Given the description of an element on the screen output the (x, y) to click on. 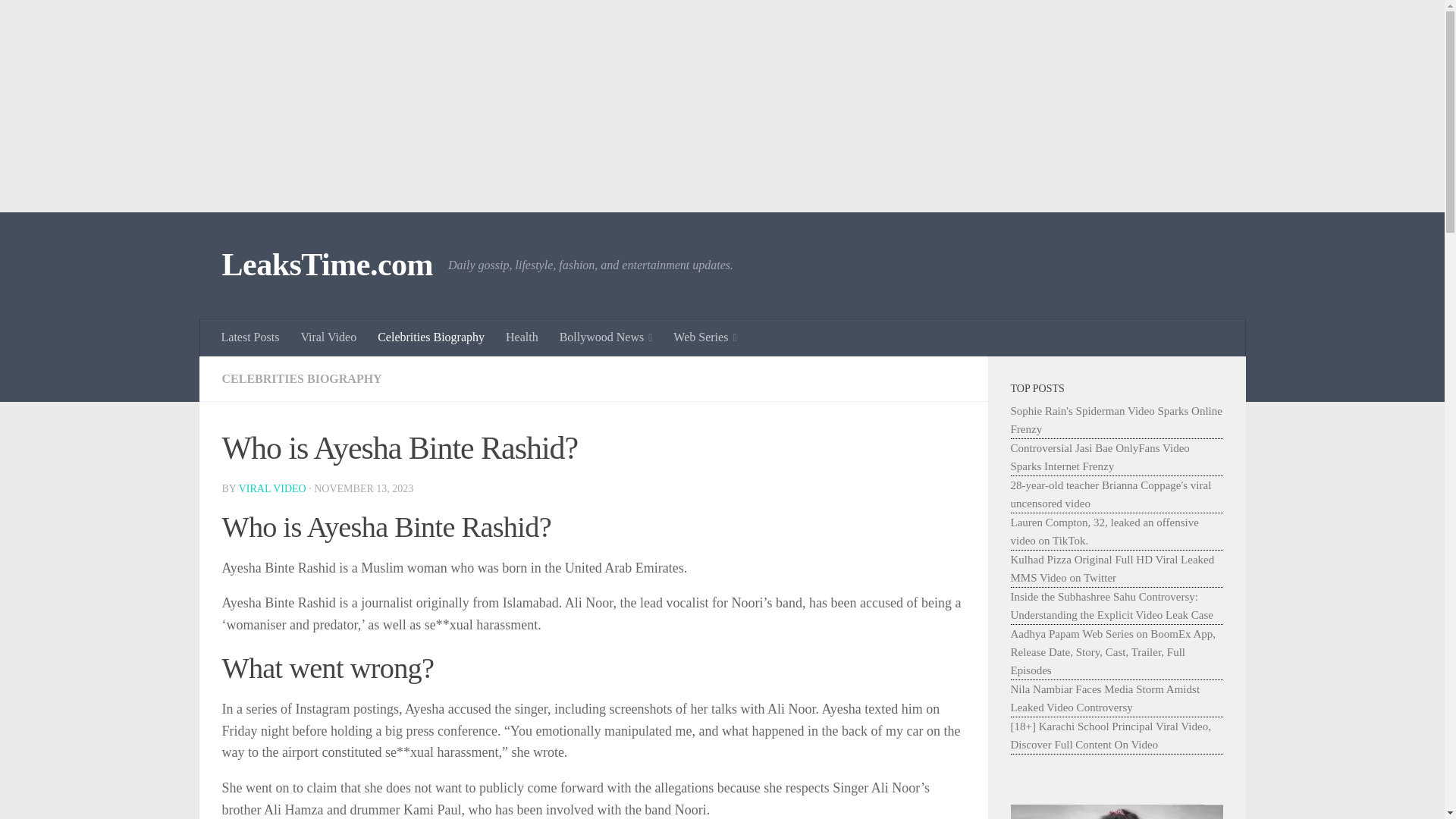
Health (521, 337)
Bollywood News (605, 337)
Latest Posts (250, 337)
LeaksTime.com (326, 265)
Web Series (704, 337)
Posts by Viral Video (271, 488)
Viral Video (327, 337)
Celebrities Biography (430, 337)
Skip to content (59, 20)
